Given the description of an element on the screen output the (x, y) to click on. 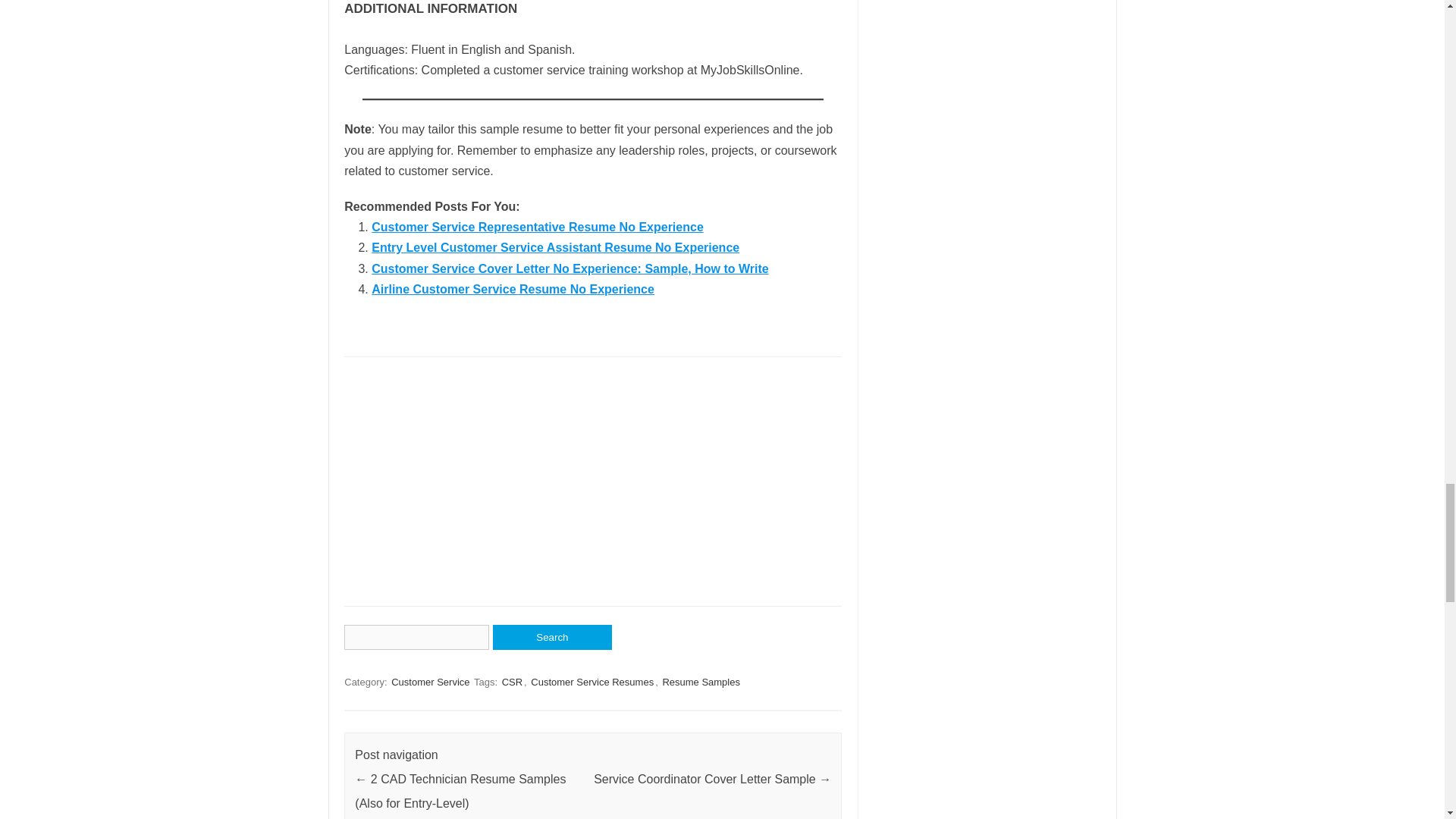
Search (552, 637)
Search (552, 637)
Airline Customer Service Resume No Experience (512, 288)
Airline Customer Service Resume No Experience (512, 288)
Customer Service Resumes (592, 681)
Customer Service (430, 681)
Resume Samples (701, 681)
Entry Level Customer Service Assistant Resume No Experience (555, 246)
Customer Service Representative Resume No Experience (537, 226)
Entry Level Customer Service Assistant Resume No Experience (555, 246)
Customer Service Representative Resume No Experience (537, 226)
CSR (512, 681)
